Given the description of an element on the screen output the (x, y) to click on. 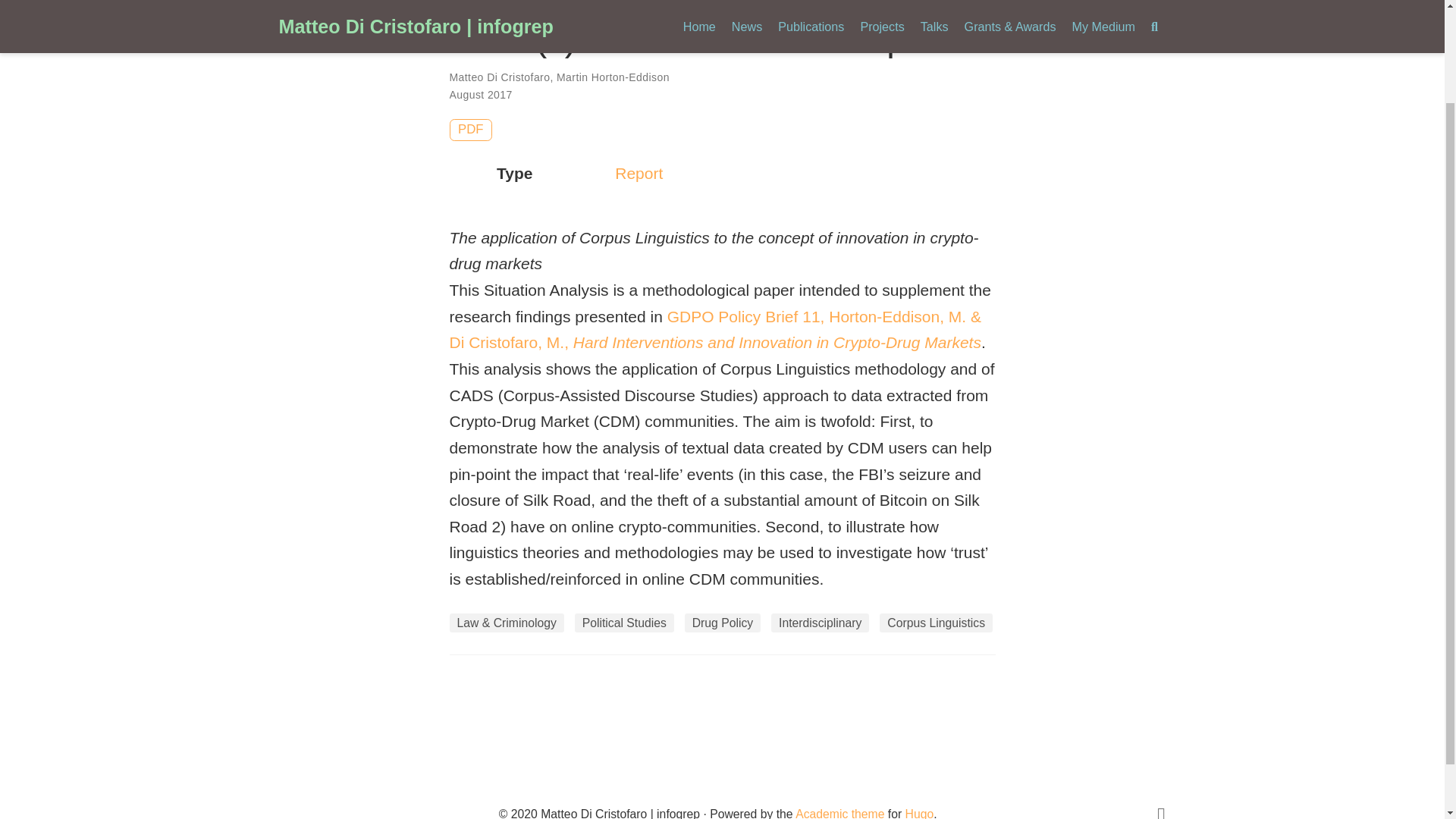
Report (638, 172)
PDF (470, 129)
Matteo Di Cristofaro (499, 77)
Political Studies (624, 623)
Corpus Linguistics (935, 623)
Martin Horton-Eddison (612, 77)
Drug Policy (722, 623)
Interdisciplinary (820, 623)
